Given the description of an element on the screen output the (x, y) to click on. 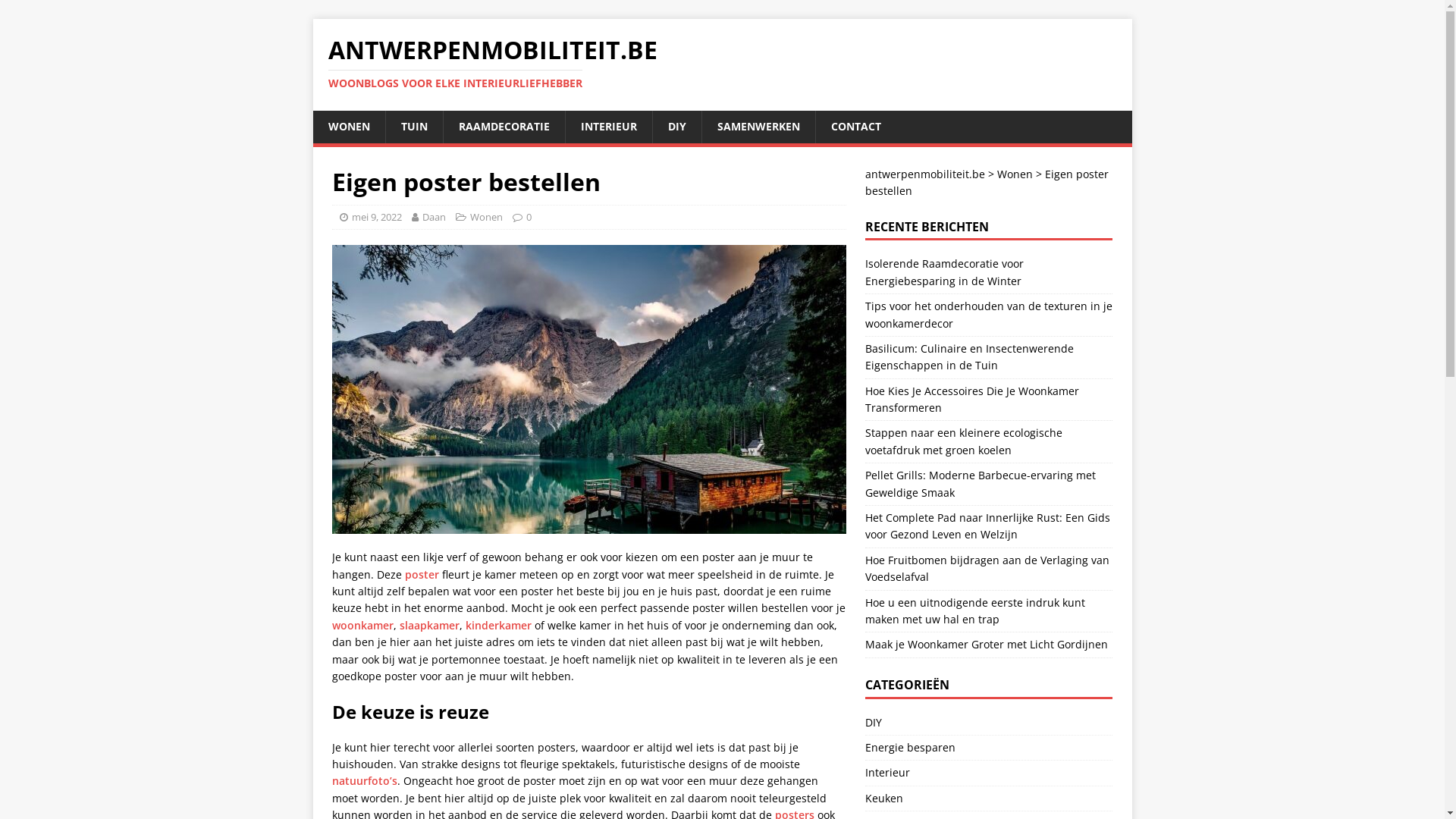
Hoe Kies Je Accessoires Die Je Woonkamer Transformeren Element type: text (972, 398)
Interieur Element type: text (988, 772)
Pellet Grills: Moderne Barbecue-ervaring met Geweldige Smaak Element type: text (980, 482)
Daan Element type: text (433, 216)
antwerpenmobiliteit.be Element type: text (925, 173)
Energie besparen Element type: text (988, 747)
kinderkamer Element type: text (498, 625)
CONTACT Element type: text (854, 126)
Maak je Woonkamer Groter met Licht Gordijnen Element type: text (986, 644)
Isolerende Raamdecoratie voor Energiebesparing in de Winter Element type: text (944, 271)
WONEN Element type: text (348, 126)
DIY Element type: text (988, 724)
Wonen Element type: text (1014, 173)
INTERIEUR Element type: text (607, 126)
poster Element type: text (421, 574)
RAAMDECORATIE Element type: text (503, 126)
0 Element type: text (528, 216)
Hoe Fruitbomen bijdragen aan de Verlaging van Voedselafval Element type: text (987, 567)
Keuken Element type: text (988, 798)
slaapkamer Element type: text (428, 625)
Wonen Element type: text (486, 216)
DIY Element type: text (676, 126)
woonkamer Element type: text (362, 625)
Eigen poster bestellen Element type: text (986, 181)
mei 9, 2022 Element type: text (376, 216)
TUIN Element type: text (413, 126)
SAMENWERKEN Element type: text (757, 126)
mountains-1587287_1280.jpg Element type: hover (589, 388)
